Given the description of an element on the screen output the (x, y) to click on. 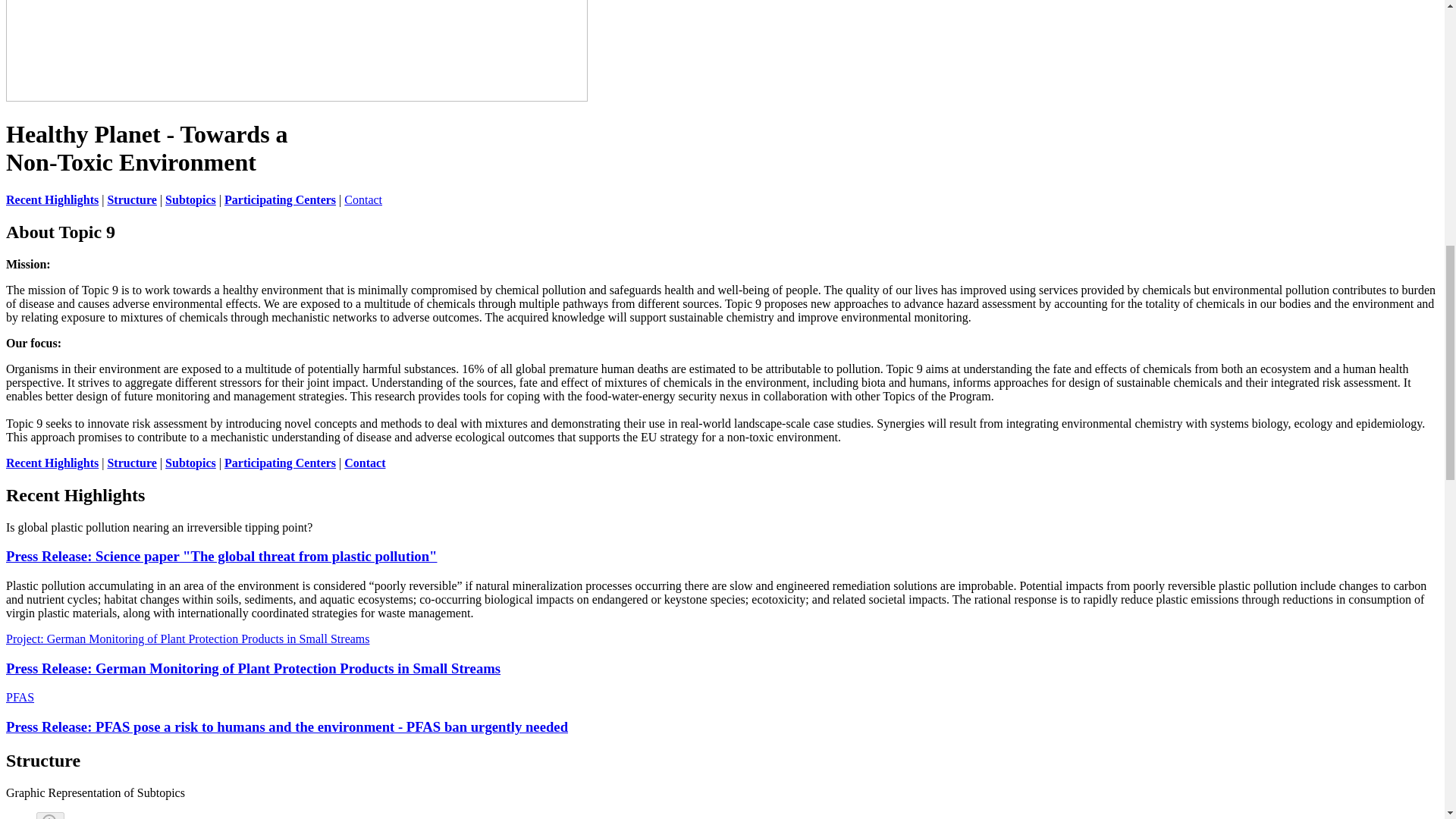
Structure (130, 199)
Subtopics (190, 199)
Structure (130, 462)
Recent Highlights (52, 199)
Contact (362, 199)
Participating Centers (280, 199)
Recent Highlights (52, 462)
